Given the description of an element on the screen output the (x, y) to click on. 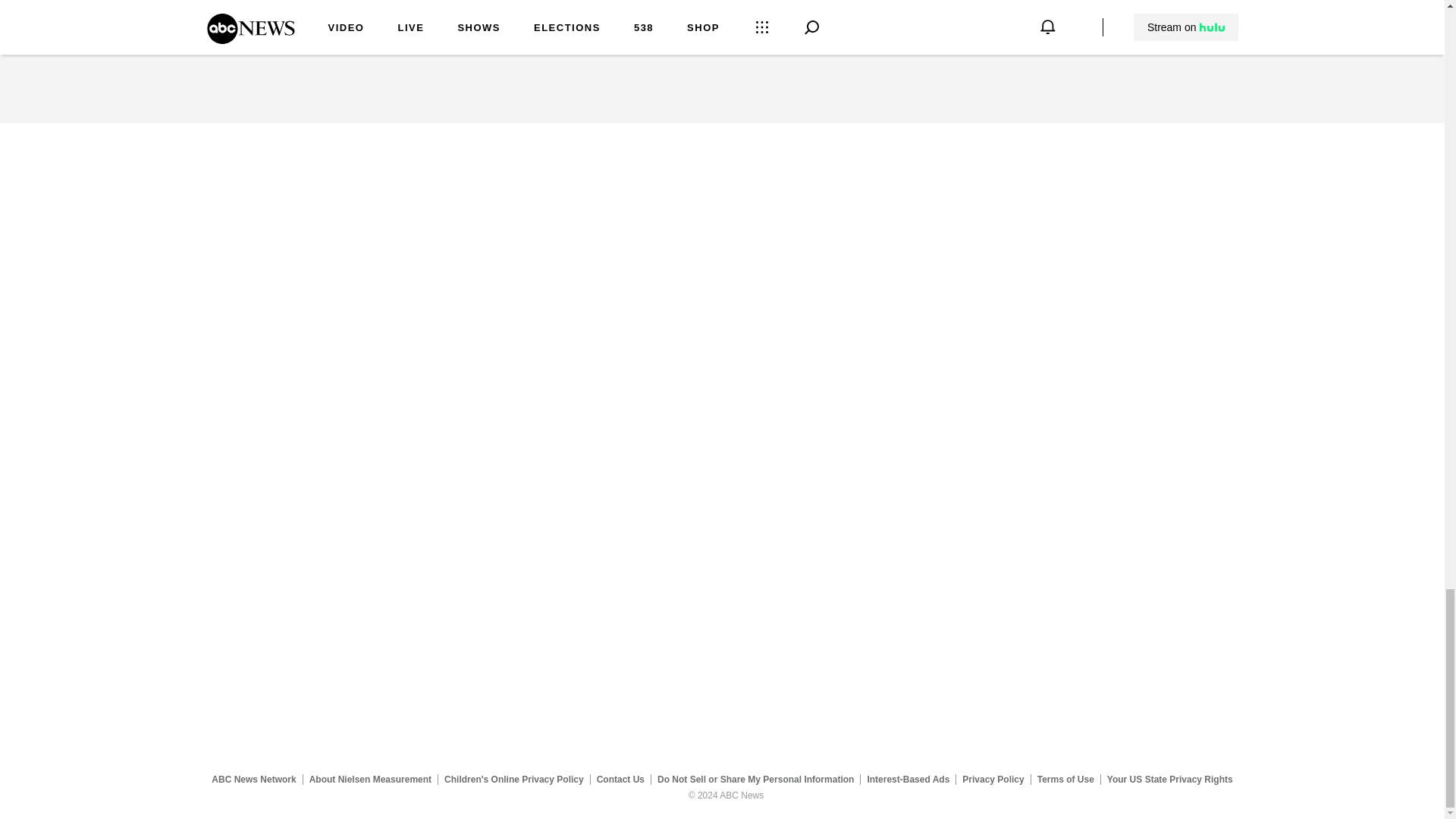
Contact Us (620, 778)
About Nielsen Measurement (370, 778)
Do Not Sell or Share My Personal Information (755, 778)
Children's Online Privacy Policy (514, 778)
Privacy Policy (993, 778)
Your US State Privacy Rights (1169, 778)
Terms of Use (1065, 778)
ABC News Network (253, 778)
Interest-Based Ads (908, 778)
